Given the description of an element on the screen output the (x, y) to click on. 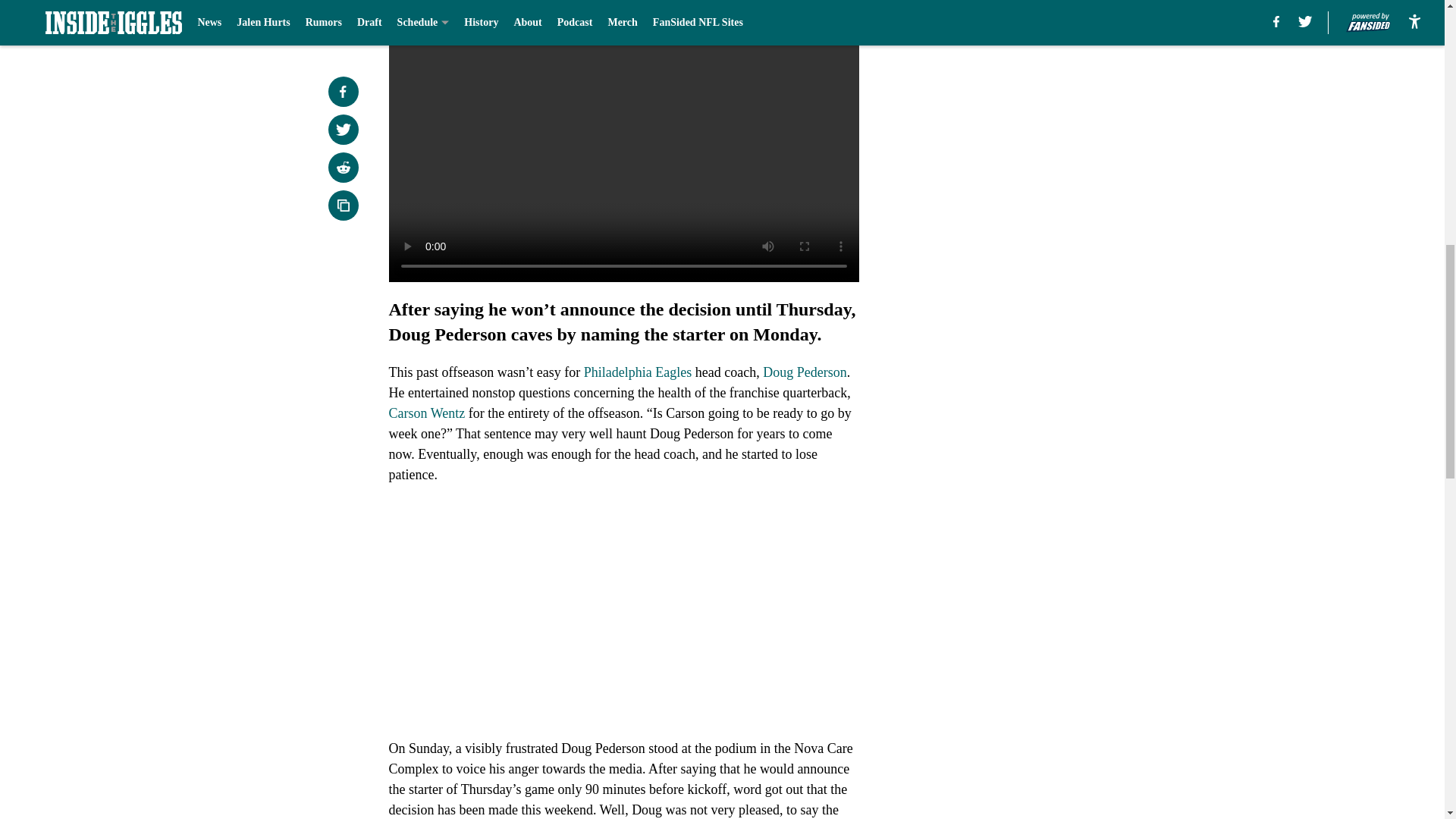
Carson Wentz (426, 412)
Doug Pederson (804, 372)
3rd party ad content (1047, 113)
3rd party ad content (1047, 332)
Philadelphia Eagles (637, 372)
